Given the description of an element on the screen output the (x, y) to click on. 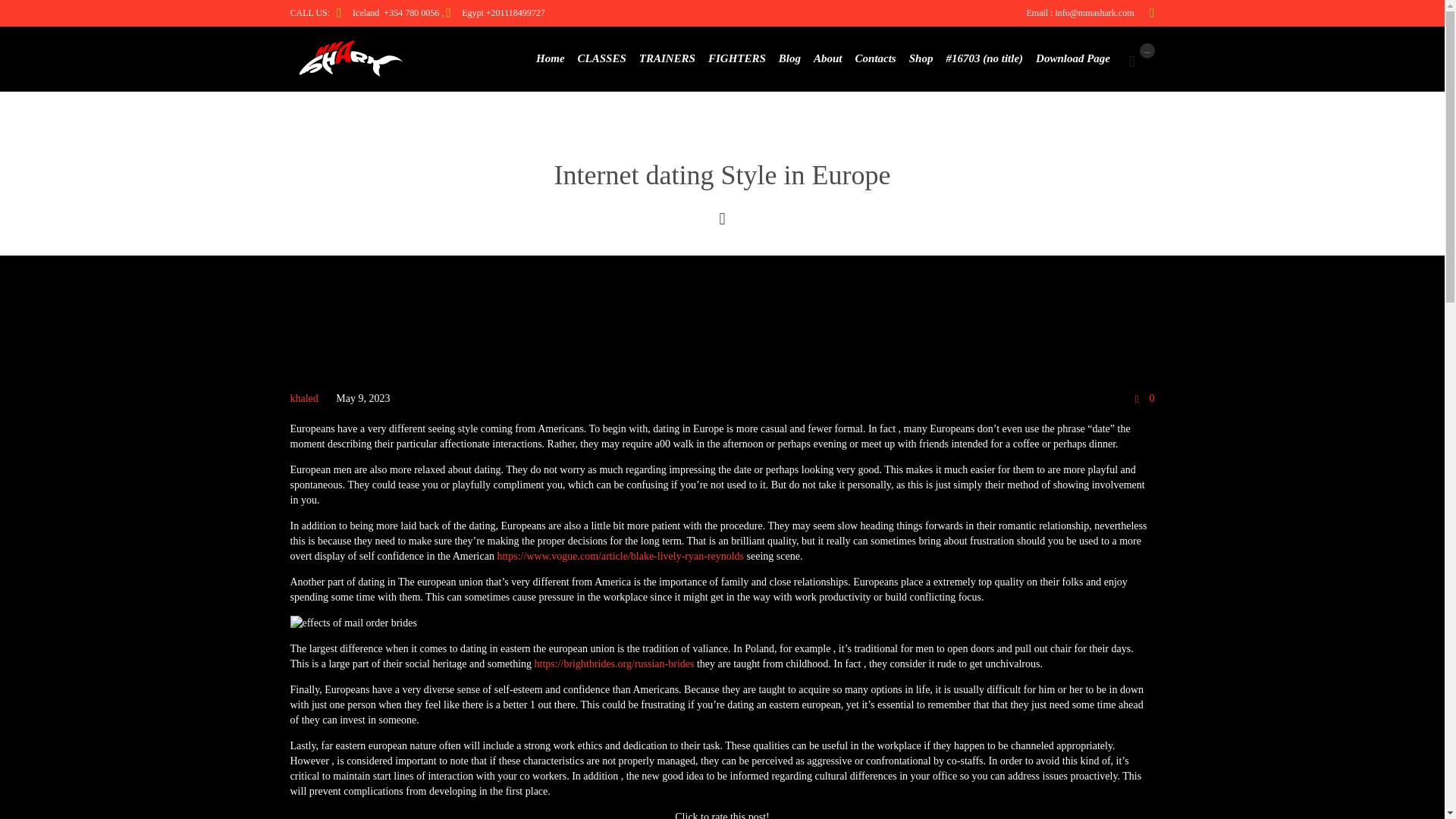
Home (550, 58)
TRAINERS (666, 58)
Contacts (875, 58)
Shop (920, 58)
About (827, 58)
Blog (788, 58)
FIGHTERS (736, 58)
Download Page (1072, 58)
CLASSES (600, 58)
